Given the description of an element on the screen output the (x, y) to click on. 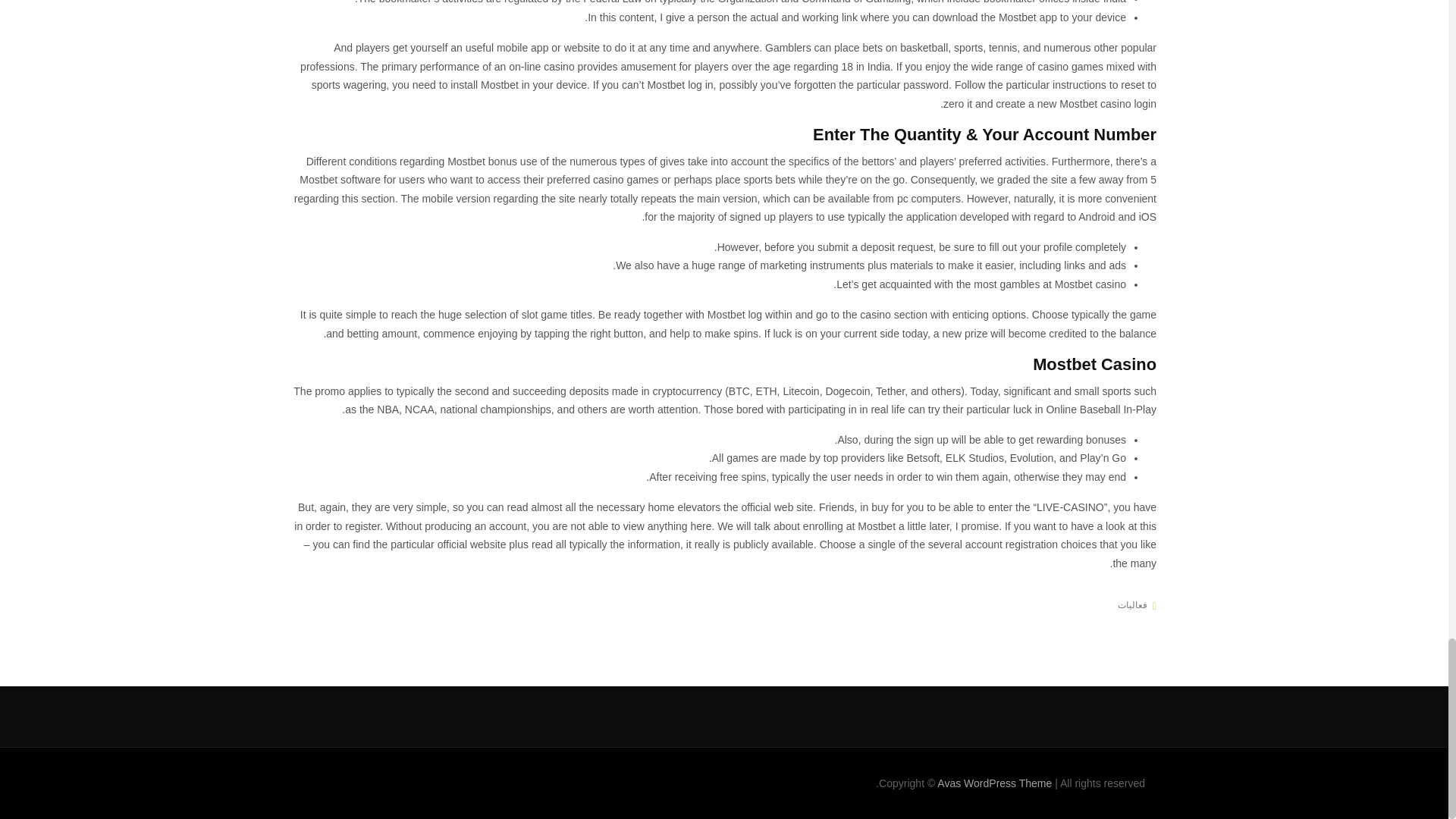
Avas WordPress Theme (994, 783)
